Given the description of an element on the screen output the (x, y) to click on. 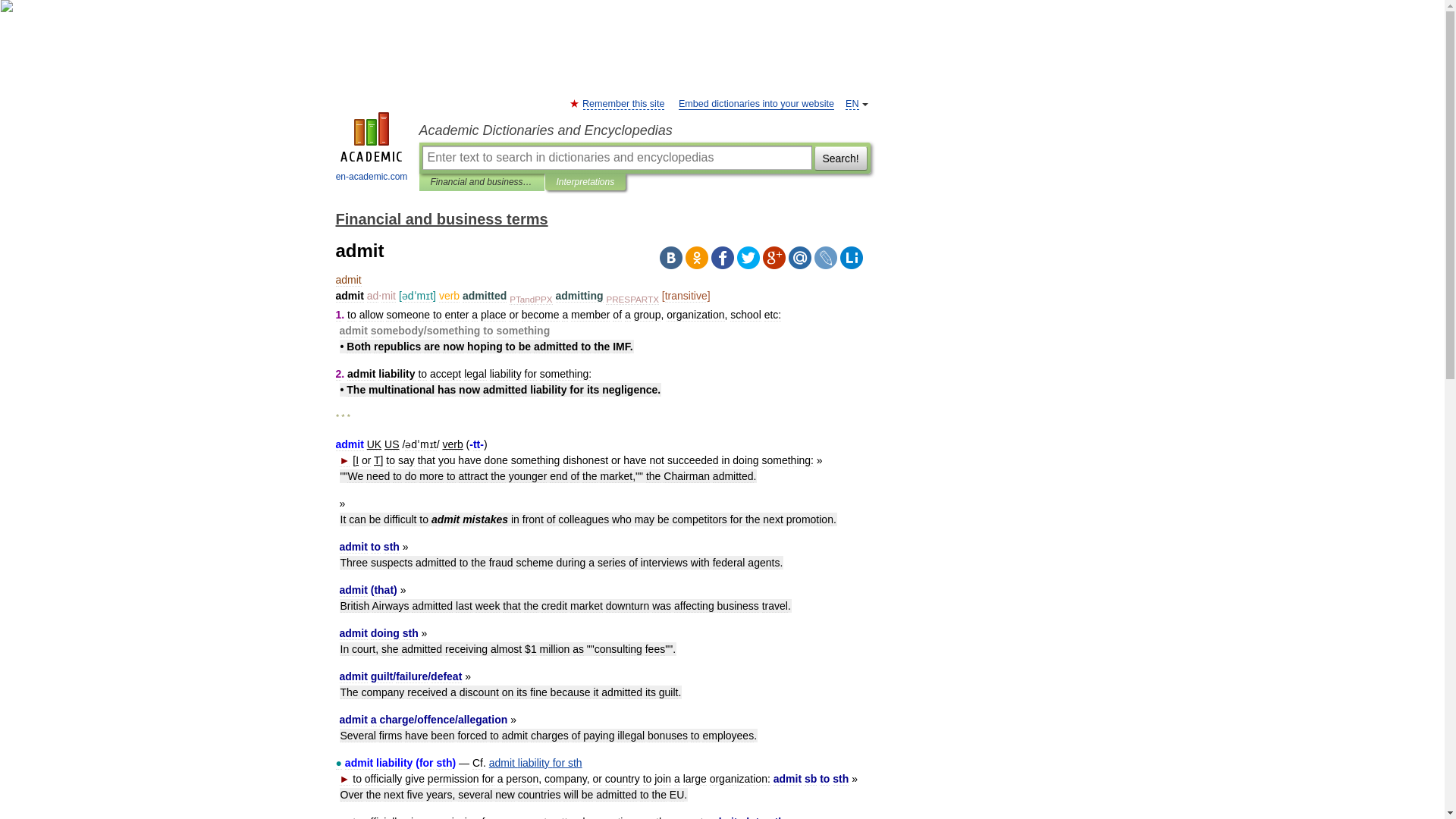
Embed dictionaries into your website (756, 103)
Search! (840, 157)
en-academic.com (371, 148)
Enter text to search in dictionaries and encyclopedias (616, 157)
Financial and business terms (481, 181)
admit liability for sth (535, 762)
Academic Dictionaries and Encyclopedias (644, 130)
Financial and business terms (440, 218)
Remember this site (623, 103)
EN (852, 103)
Interpretations (585, 181)
